Given the description of an element on the screen output the (x, y) to click on. 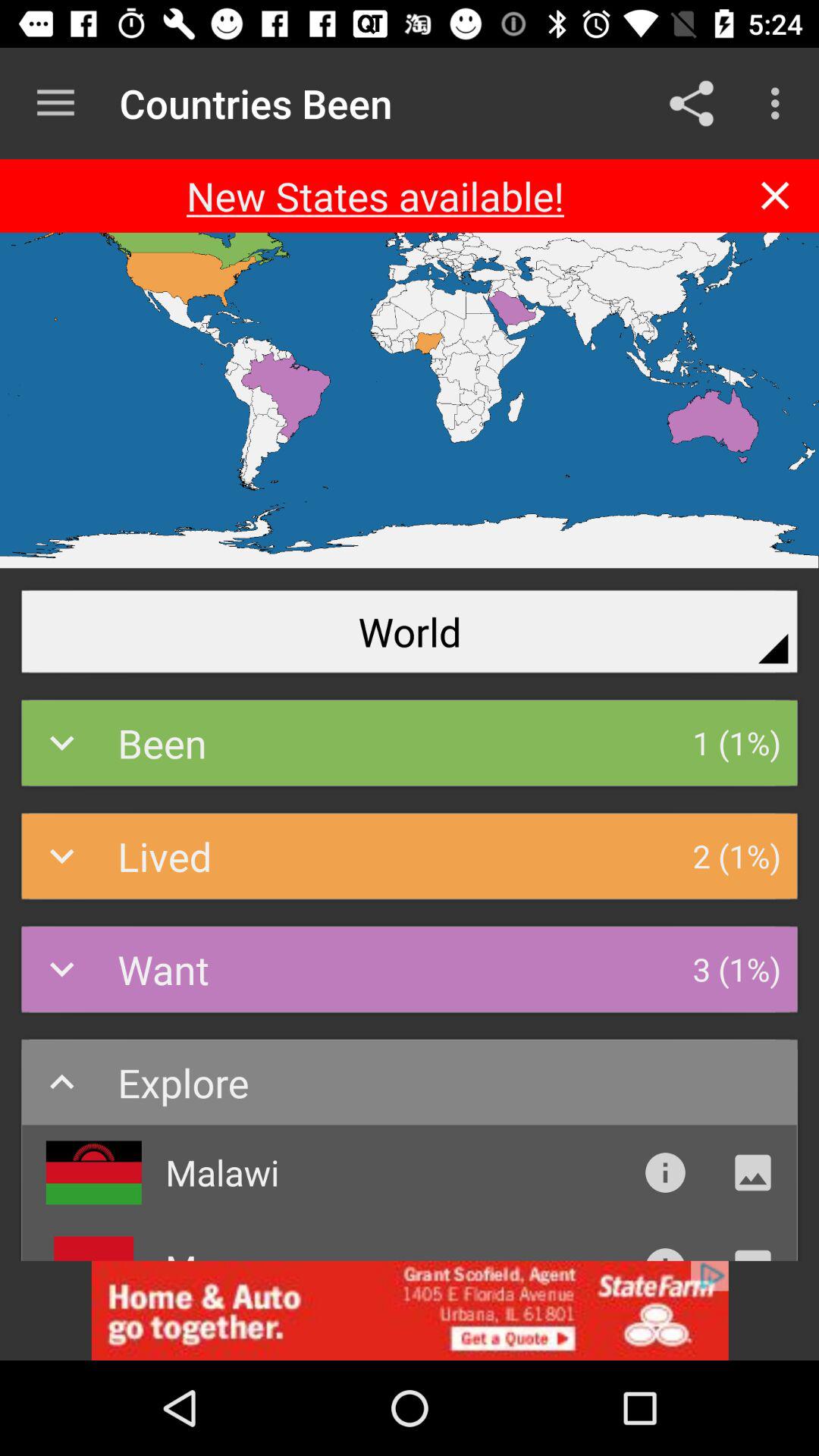
menu (55, 103)
